Given the description of an element on the screen output the (x, y) to click on. 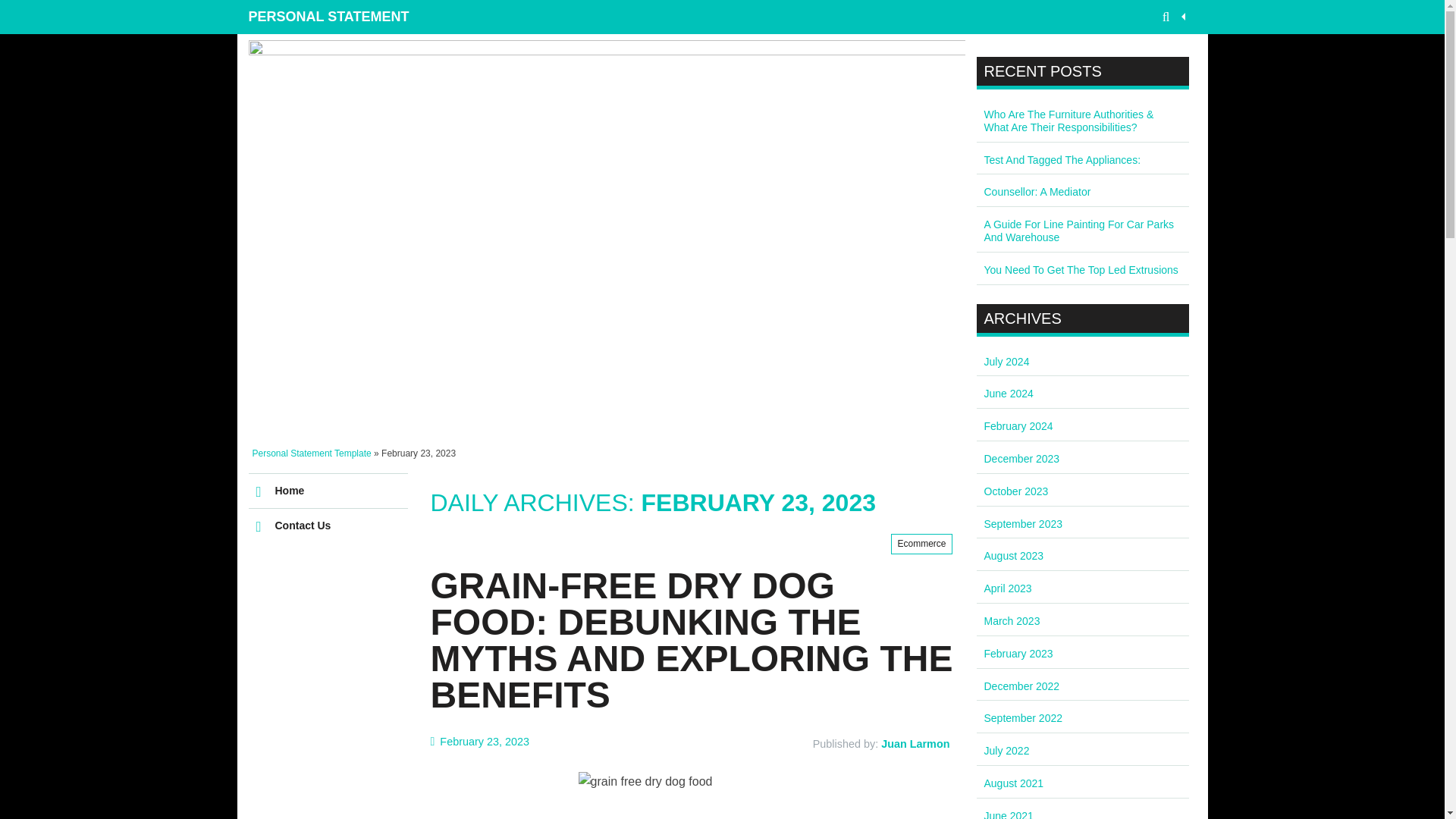
You Need To Get The Top Led Extrusions (1080, 269)
February 23, 2023 (479, 740)
August 2021 (1013, 783)
April 2023 (1008, 588)
Test And Tagged The Appliances: (1062, 159)
December 2022 (1021, 686)
September 2023 (1023, 523)
Ecommerce (921, 543)
grain free dry dog food (691, 795)
October 2023 (1016, 491)
Juan Larmon (914, 743)
June 2021 (1008, 814)
July 2022 (1006, 750)
PERSONAL STATEMENT TEMPLATE (335, 17)
Posts by Juan Larmon (914, 743)
